Given the description of an element on the screen output the (x, y) to click on. 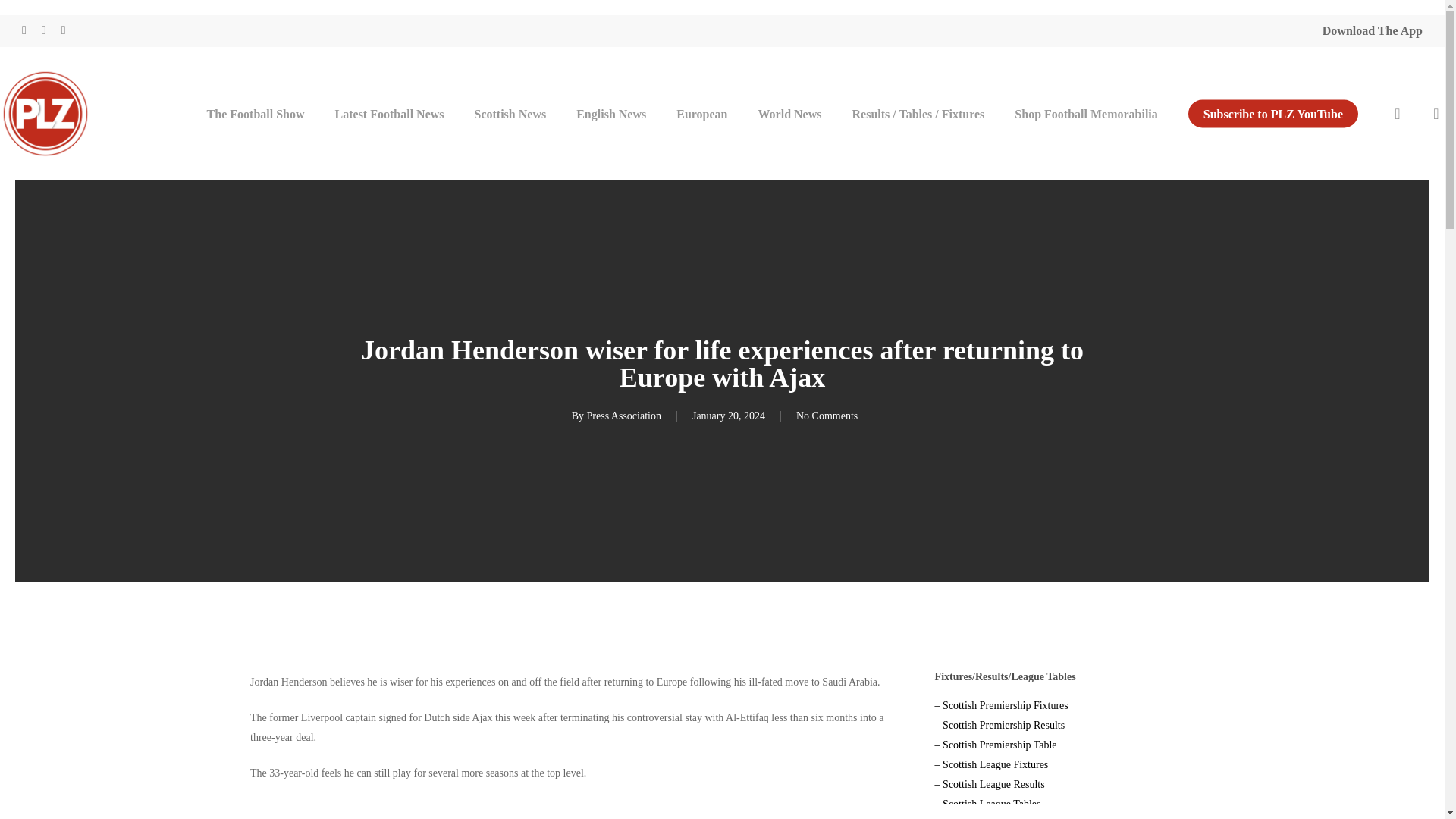
English News (610, 112)
Scottish News (511, 112)
Latest Football News (390, 112)
European (701, 112)
Shop Football Memorabilia (1085, 112)
World News (789, 112)
Posts by Press Association (623, 415)
The Football Show (256, 112)
Download The App (1372, 30)
